Given the description of an element on the screen output the (x, y) to click on. 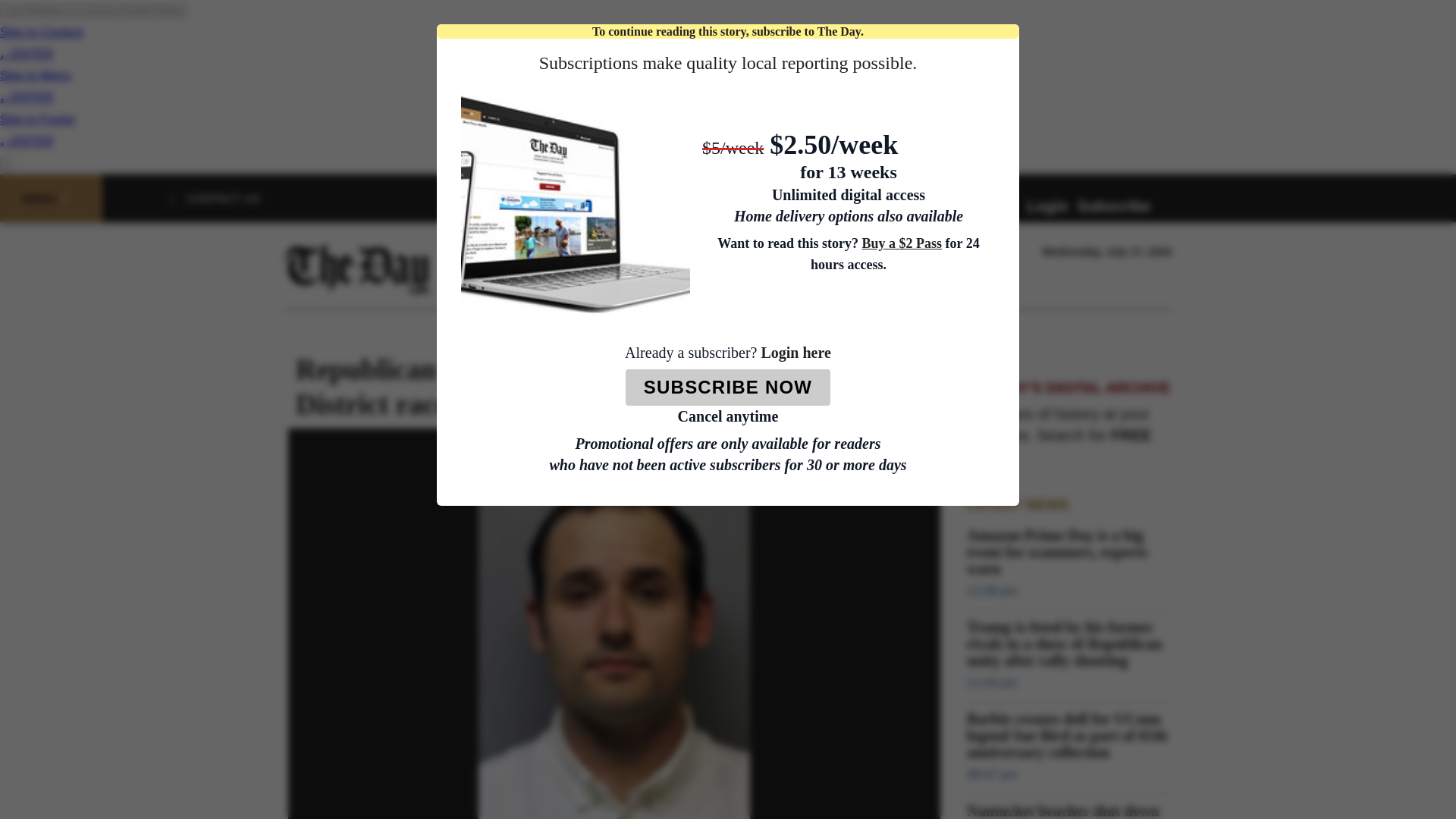
Contact Us (222, 198)
